Given the description of an element on the screen output the (x, y) to click on. 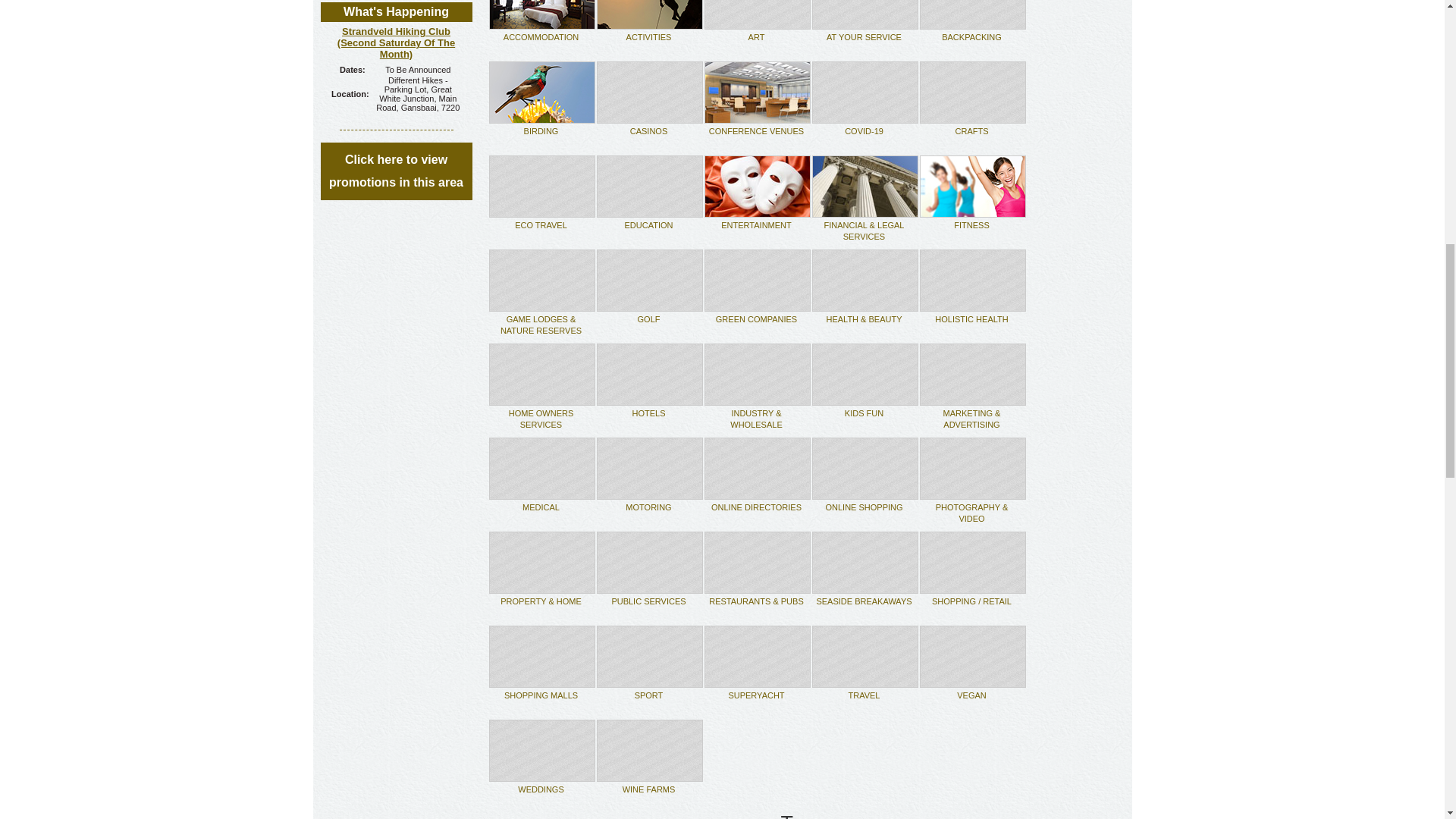
Activities (648, 36)
Art (756, 36)
Conference Venues (756, 130)
At Your Service (864, 36)
Crafts (971, 130)
COVID-19 (863, 130)
Fitness (970, 225)
Entertainment (756, 225)
Education (648, 225)
Accommodation (540, 36)
